Given the description of an element on the screen output the (x, y) to click on. 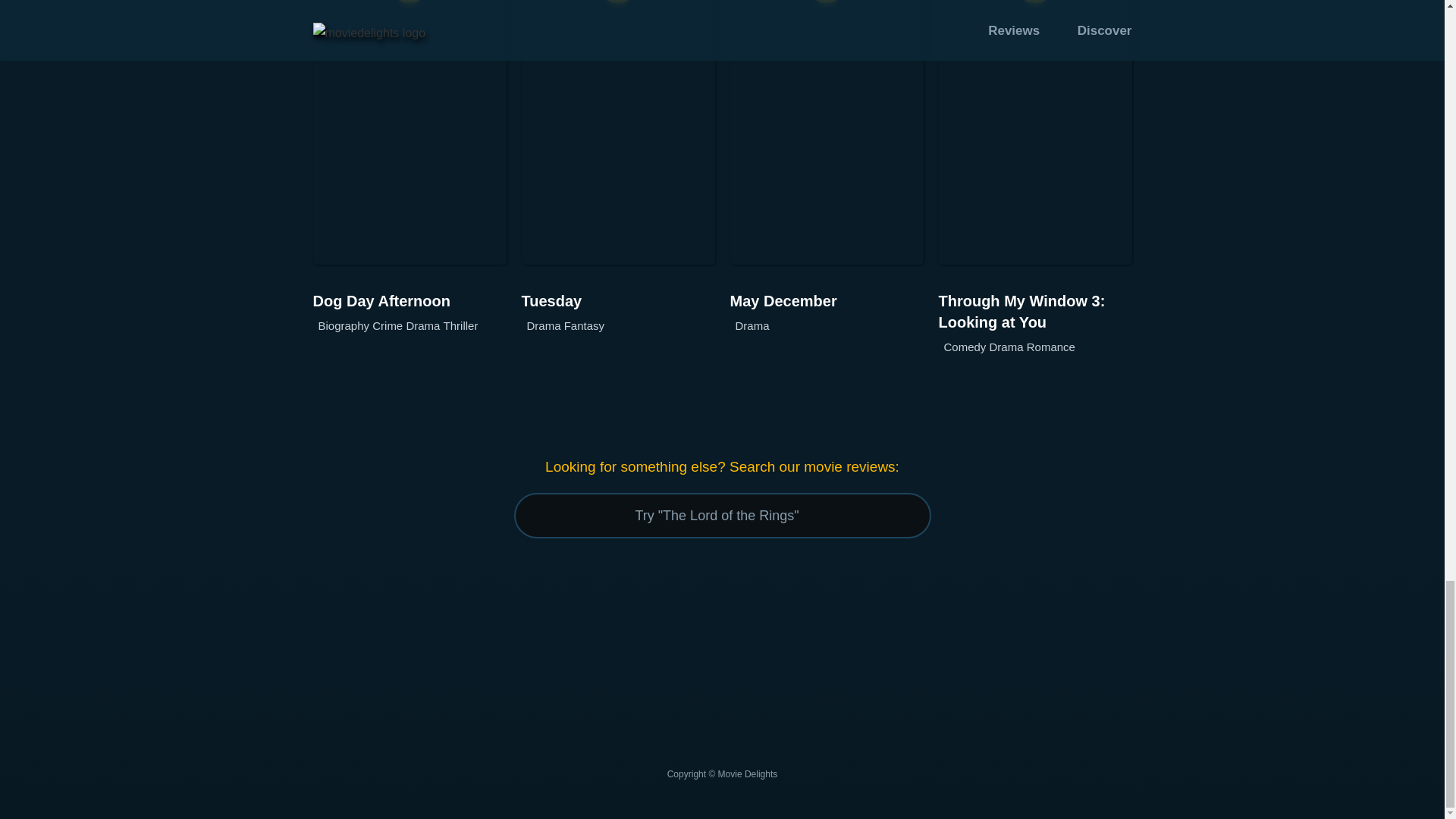
 genre movie reviews (343, 325)
Tuesday movie review (617, 301)
 genre movie reviews (584, 325)
 genre movie reviews (752, 325)
Drama (1006, 346)
Comedy (964, 346)
May December movie review (826, 301)
 genre movie reviews (542, 325)
May December (826, 301)
 genre movie reviews (422, 325)
